Given the description of an element on the screen output the (x, y) to click on. 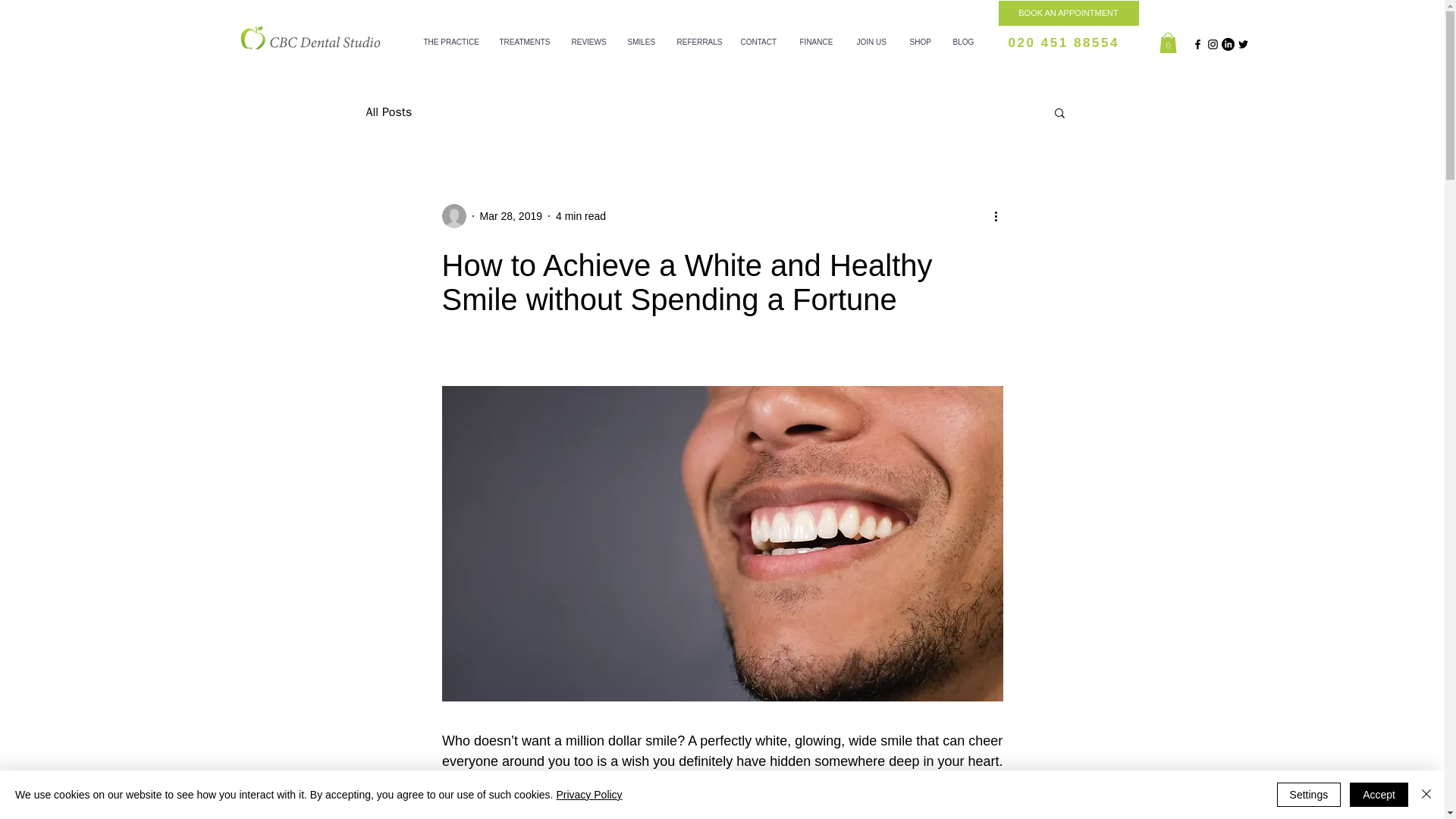
TREATMENTS (523, 42)
CONTACT (759, 42)
REFERRALS (697, 42)
Mar 28, 2019 (510, 215)
THE PRACTICE (449, 42)
JOIN US (871, 42)
REVIEWS (587, 42)
FINANCE (817, 42)
4 min read (580, 215)
SMILES (640, 42)
